Given the description of an element on the screen output the (x, y) to click on. 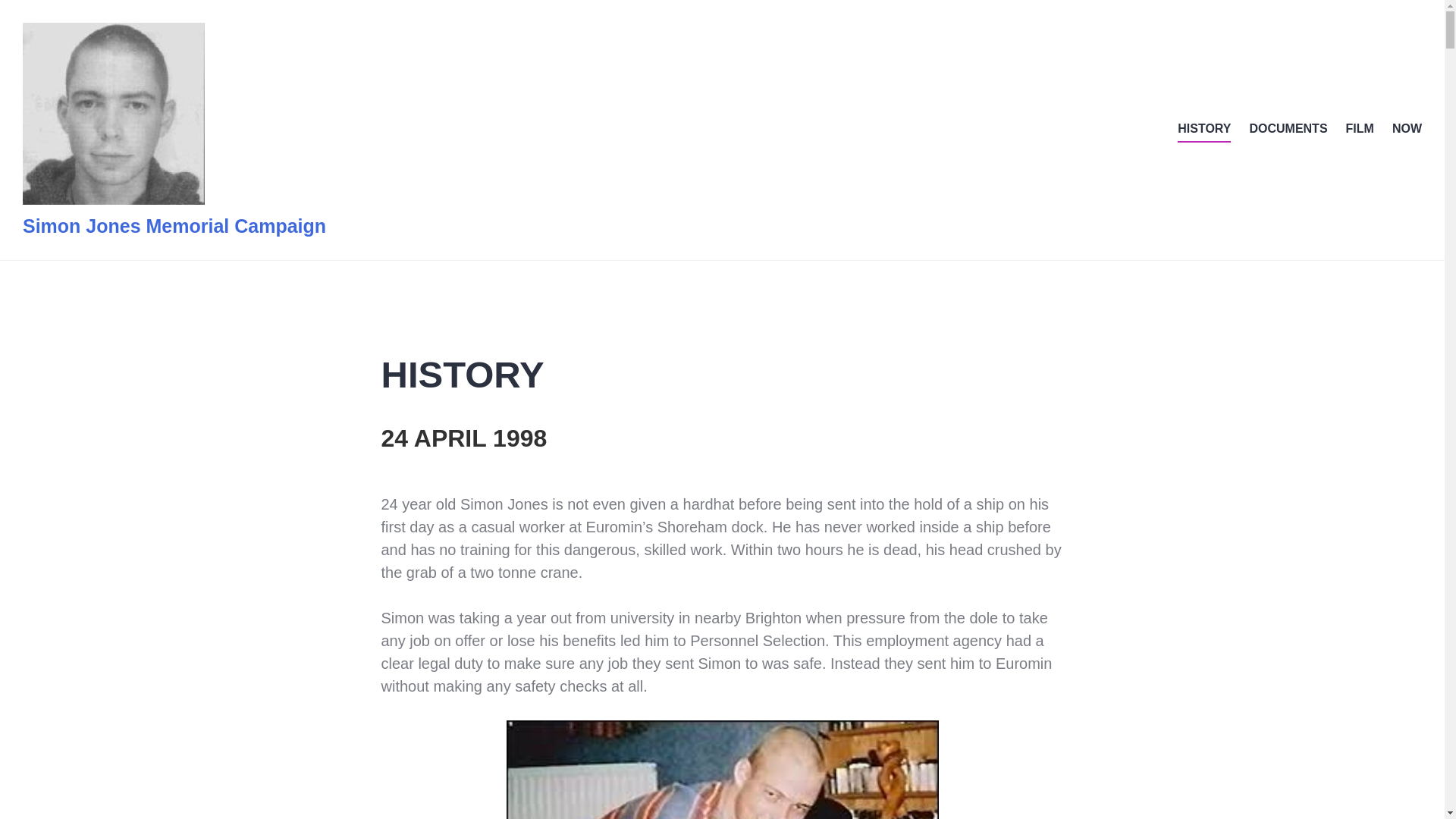
FILM (1359, 129)
Simon Jones Memorial Campaign (174, 225)
HISTORY (1203, 129)
NOW (1406, 129)
DOCUMENTS (1287, 129)
